Given the description of an element on the screen output the (x, y) to click on. 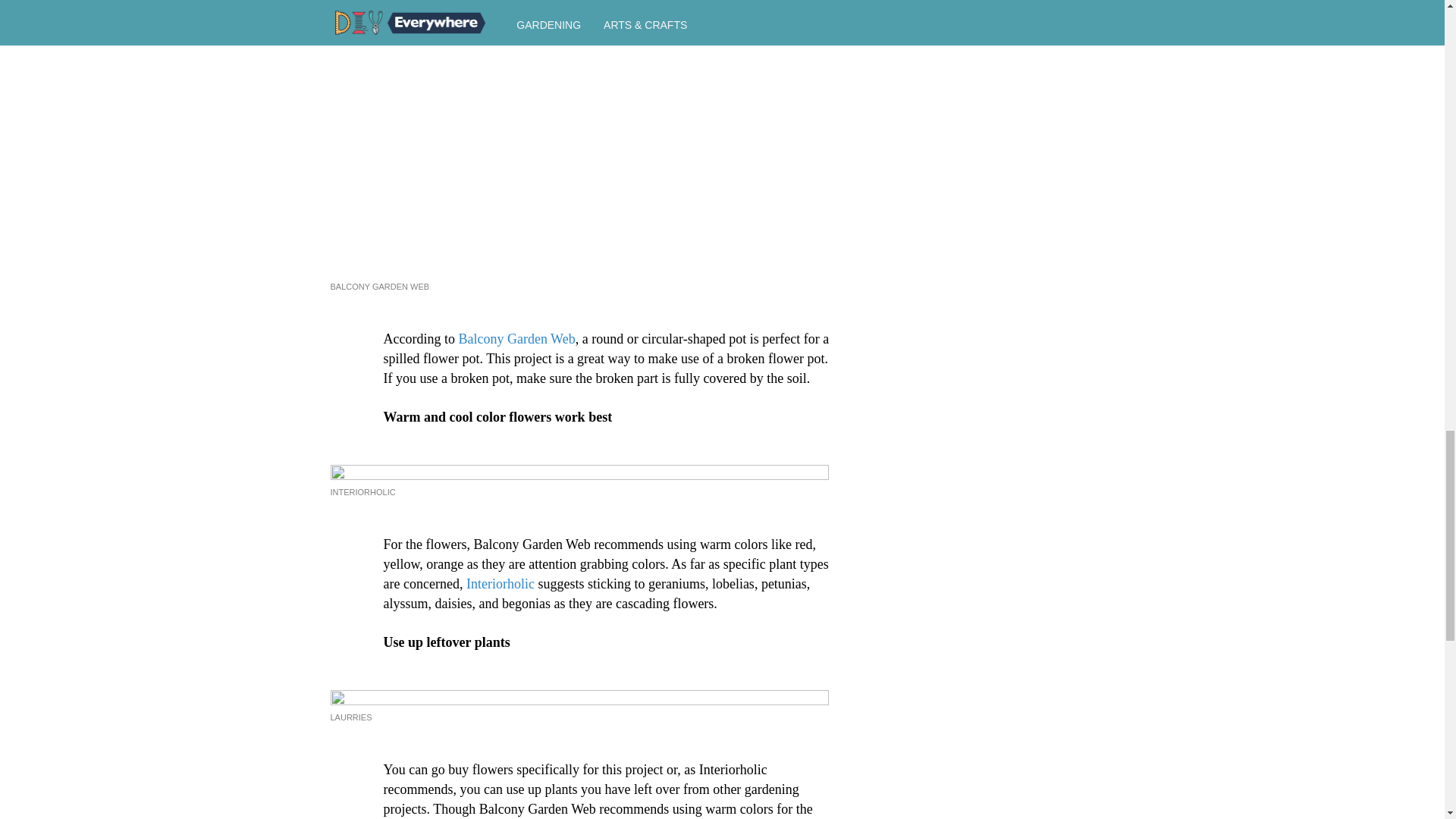
LAURRIES (351, 716)
INTERIORHOLIC (363, 491)
Balcony Garden Web (516, 338)
BALCONY GARDEN WEB (379, 286)
Interiorholic (499, 583)
